Given the description of an element on the screen output the (x, y) to click on. 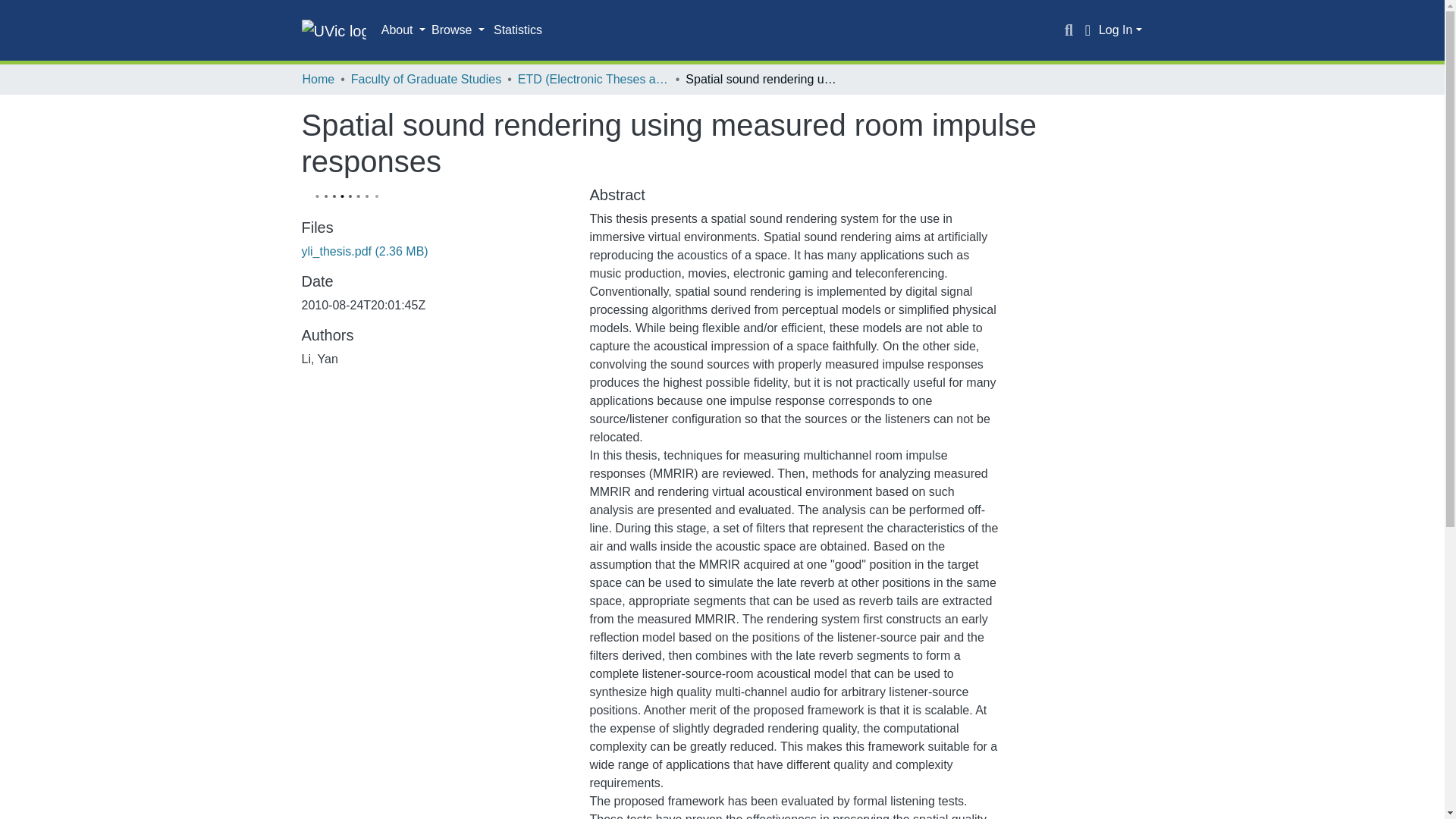
Browse (457, 30)
Faculty of Graduate Studies (425, 79)
Home (317, 79)
Language switch (1087, 30)
Statistics (517, 30)
Search (1068, 30)
Statistics (517, 30)
Log In (1119, 29)
About (403, 30)
